Given the description of an element on the screen output the (x, y) to click on. 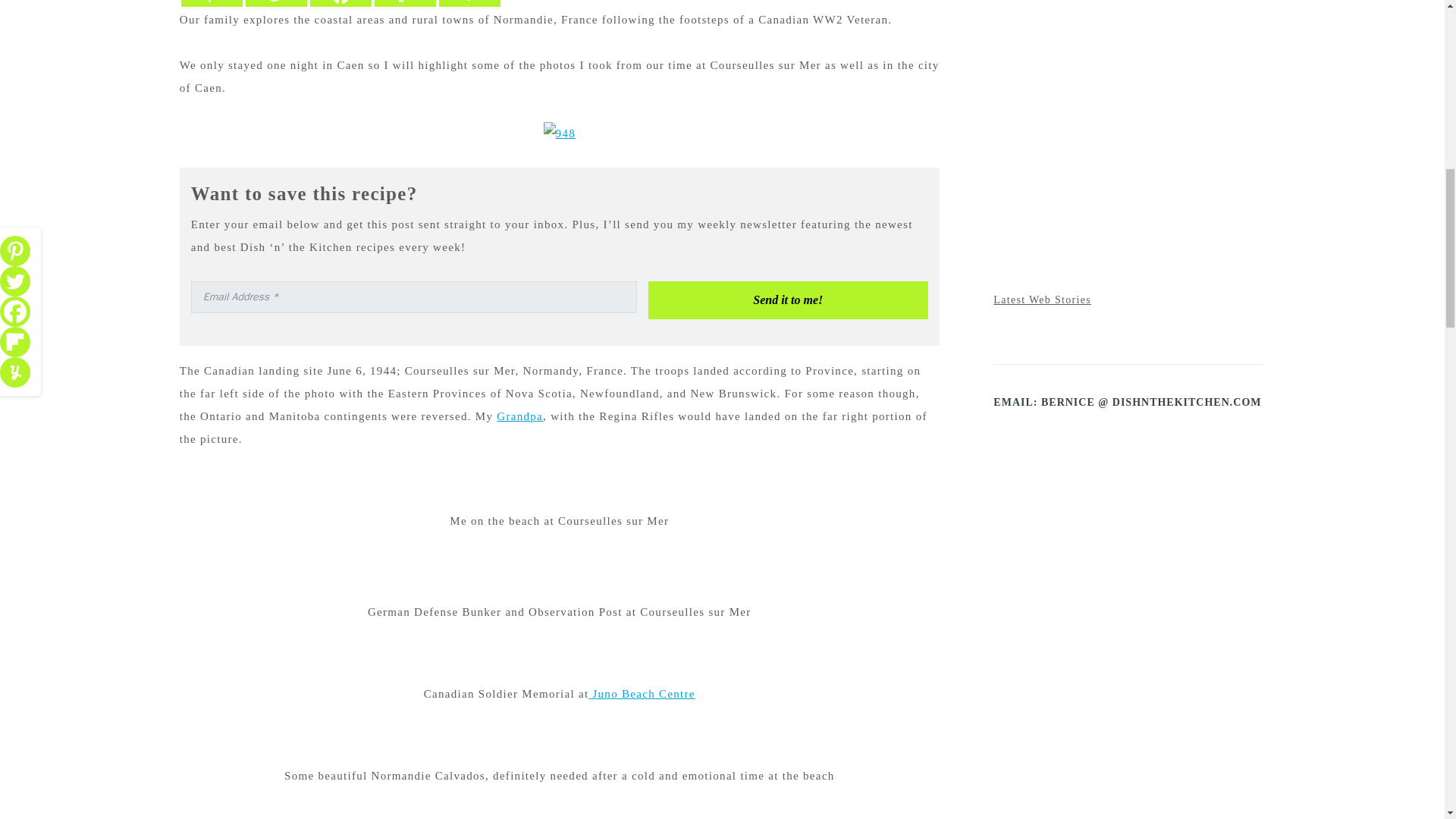
Yummly (469, 3)
Twitter (276, 3)
Facebook (340, 3)
Flipboard (404, 3)
Pinterest (211, 3)
